Given the description of an element on the screen output the (x, y) to click on. 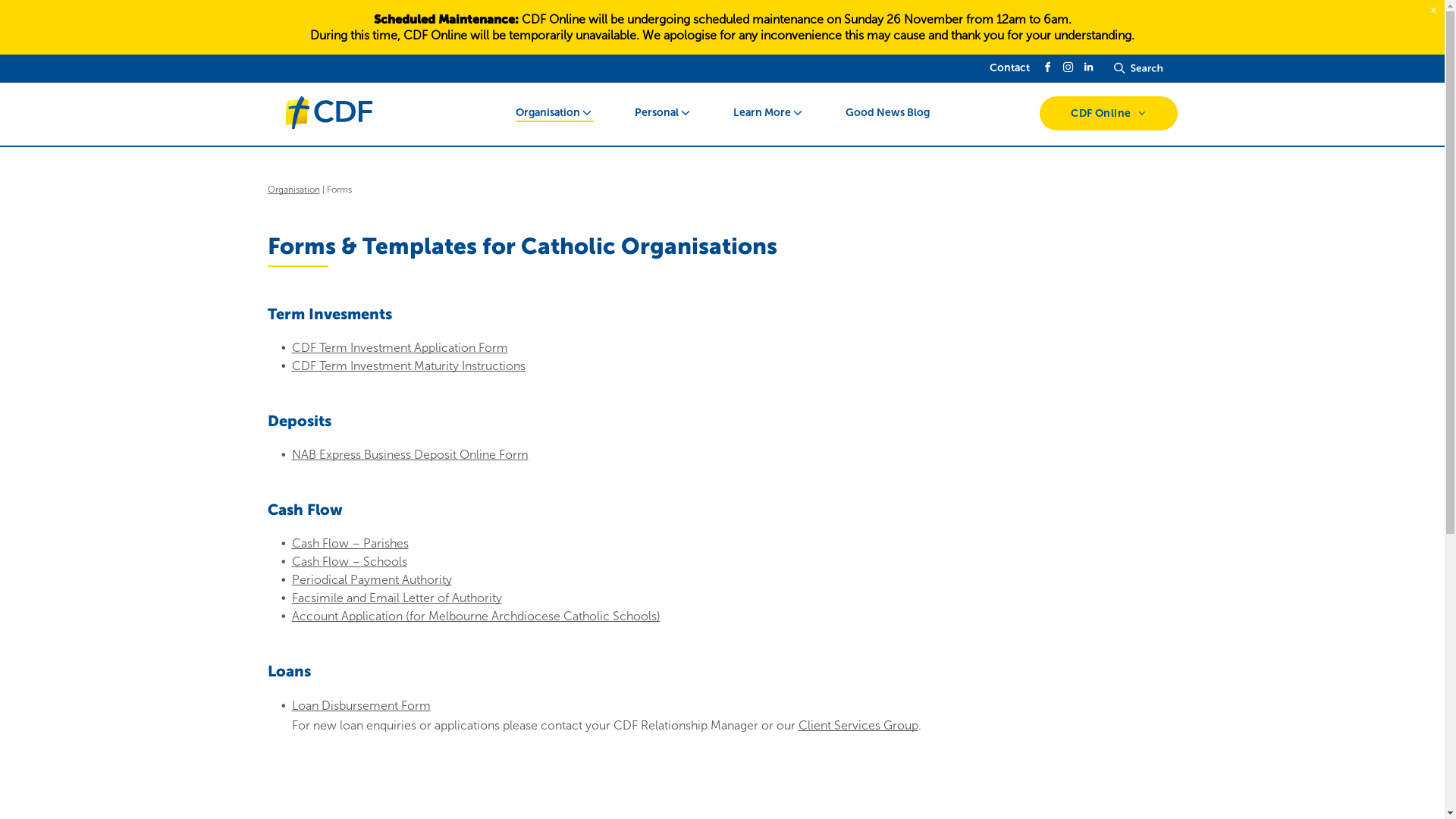
NAB Express Business Deposit Online Form Element type: text (409, 454)
Organisation Element type: text (547, 112)
Learn More Element type: text (761, 112)
Client Services Group Element type: text (857, 725)
Personal Element type: text (656, 112)
Contact Element type: text (1009, 67)
CDF Term Investment Application Form Element type: text (399, 347)
Periodical Payment Authority Element type: text (371, 579)
CDF Term Investment Maturity Instructions Element type: text (407, 365)
CDF Online Element type: text (1108, 113)
Loan Disbursement Form Element type: text (360, 705)
Good News Blog Element type: text (887, 112)
Organisation Element type: text (292, 189)
Facsimile and Email Letter of Authority Element type: text (396, 597)
